Given the description of an element on the screen output the (x, y) to click on. 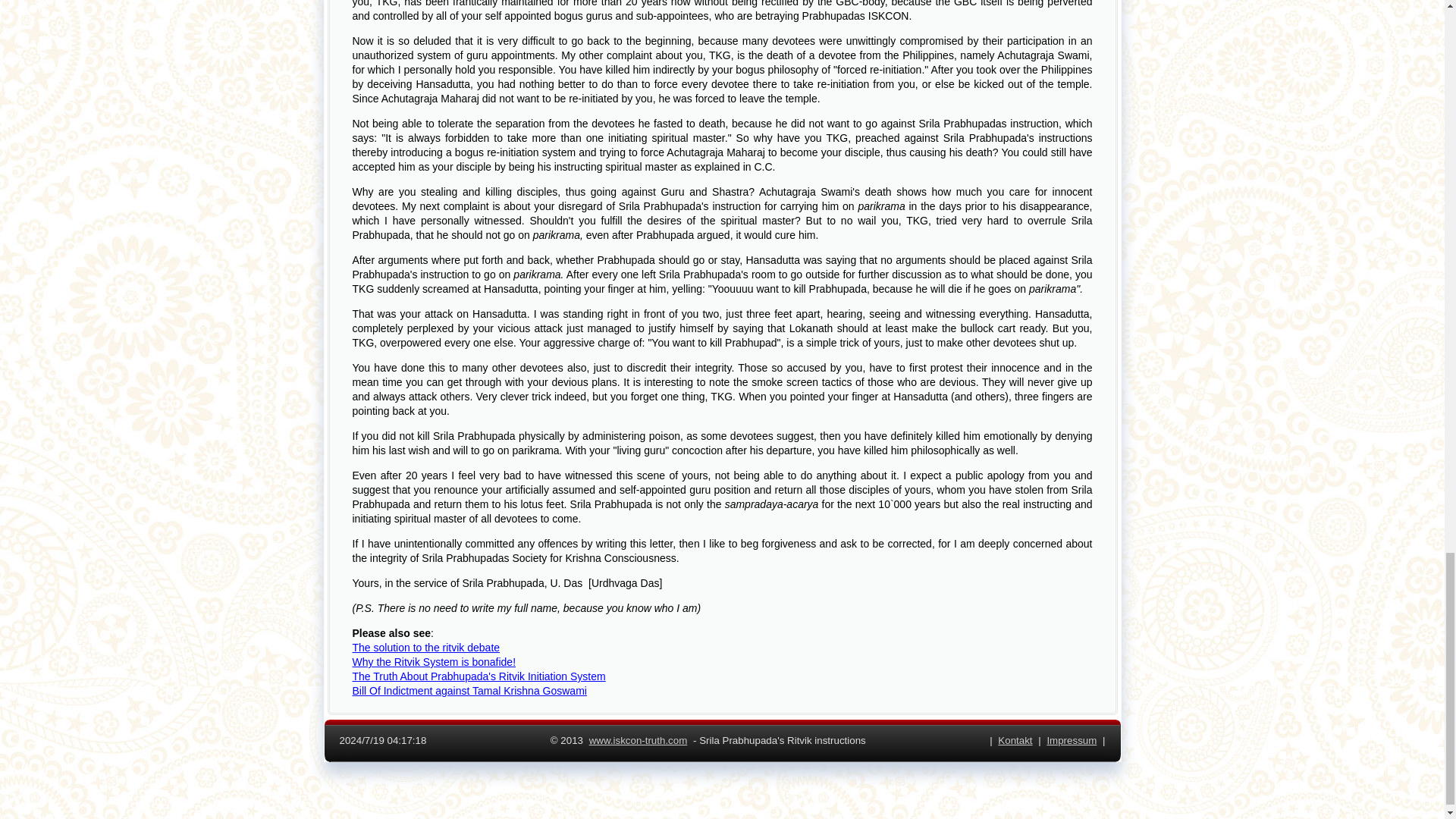
The solution to the ritvik debate (425, 647)
Kontakt (1014, 741)
Kontakt (1014, 741)
Home (638, 741)
www.iskcon-truth.com (638, 741)
Impressum (1071, 741)
Impressum (1071, 741)
Bill Of Indictment against Tamal Krishna Goswami (469, 690)
The Truth About Prabhupada's Ritvik Initiation System (478, 676)
Why the Ritvik System is bonafide! (433, 662)
